Given the description of an element on the screen output the (x, y) to click on. 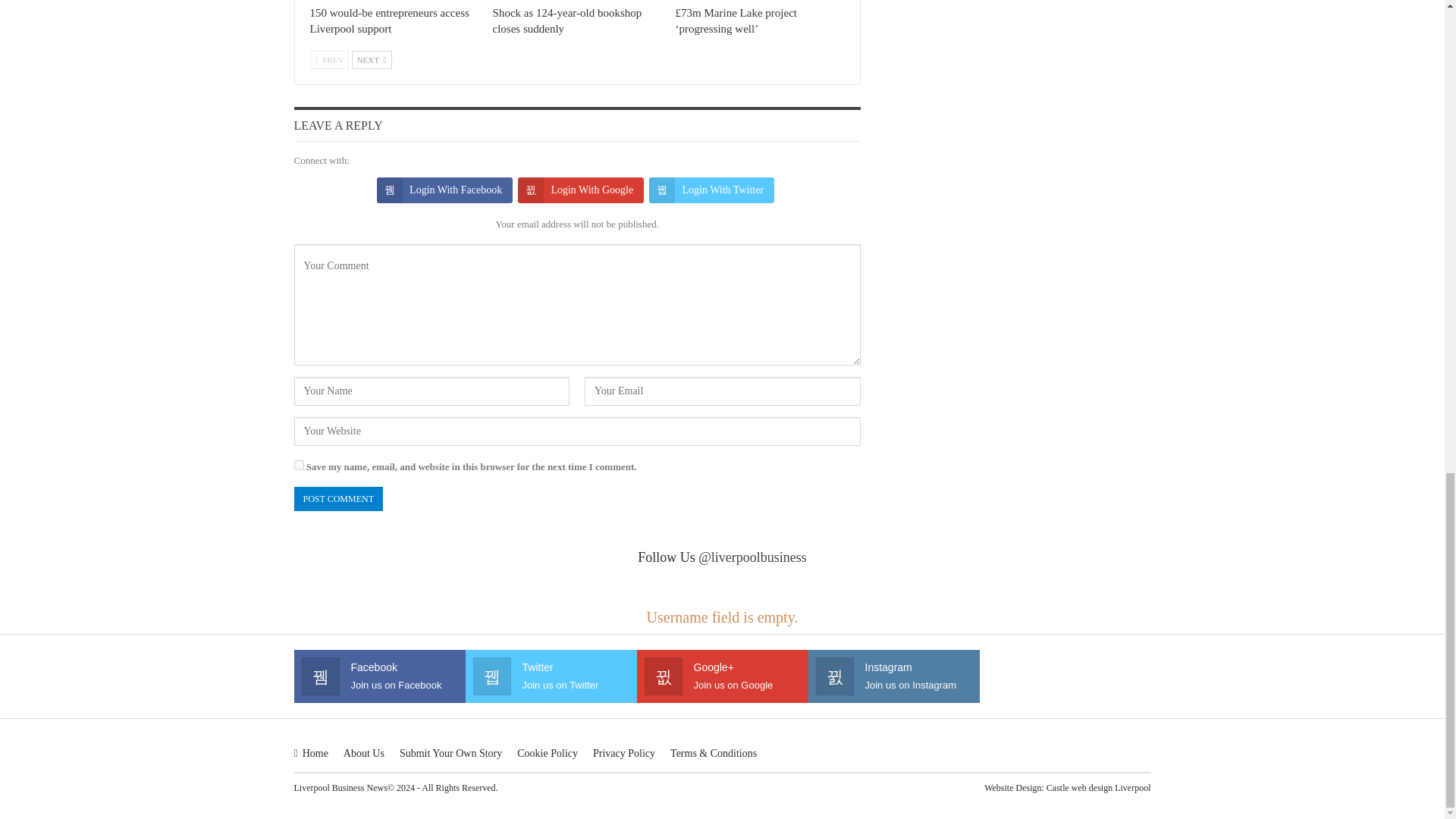
yes (299, 465)
Next (371, 59)
Post Comment (338, 498)
Previous (328, 59)
